Given the description of an element on the screen output the (x, y) to click on. 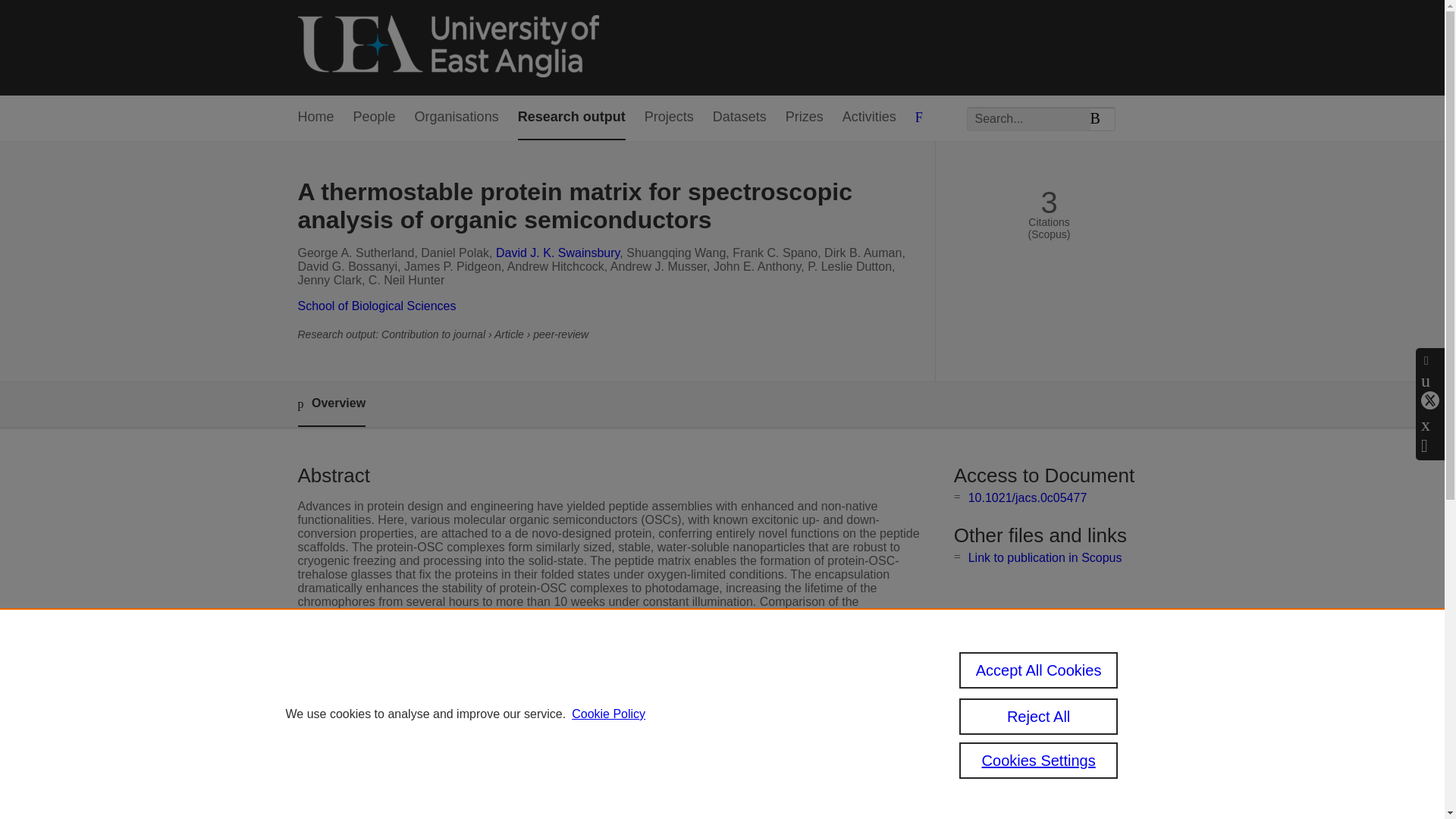
People (374, 117)
Organisations (456, 117)
Research output (572, 117)
Activities (869, 117)
David J. K. Swainsbury (558, 252)
Datasets (740, 117)
Cookie Policy (608, 713)
Link to publication in Scopus (1045, 557)
School of Biological Sciences (376, 305)
University of East Anglia Home (447, 47)
Journal of the American Chemical Society (619, 801)
Overview (331, 404)
Projects (669, 117)
